Given the description of an element on the screen output the (x, y) to click on. 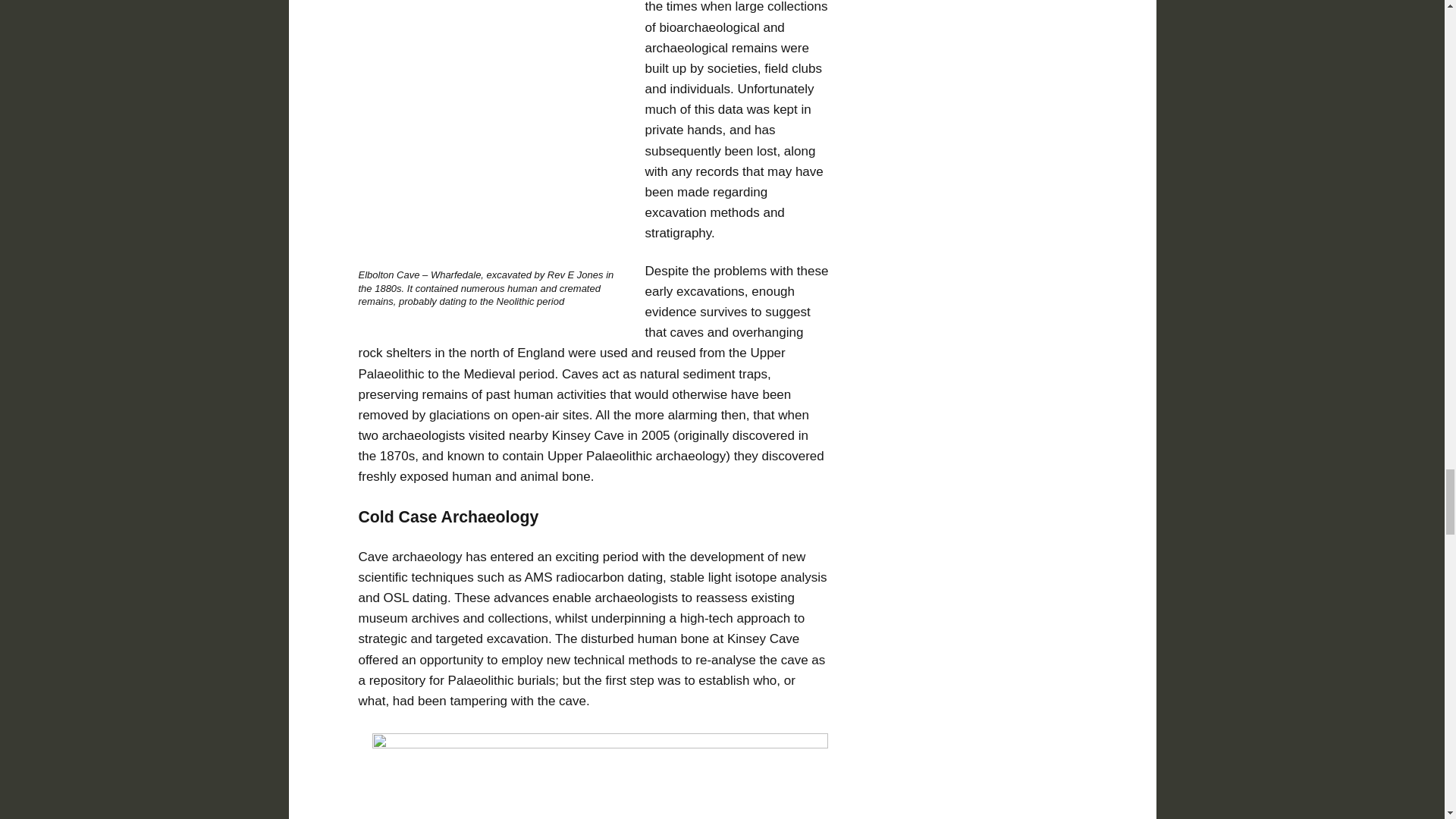
Kinsey Cave - Three Dimensional Recording (600, 776)
Elbolton Cave - Antiquarian Investigation (489, 130)
